Given the description of an element on the screen output the (x, y) to click on. 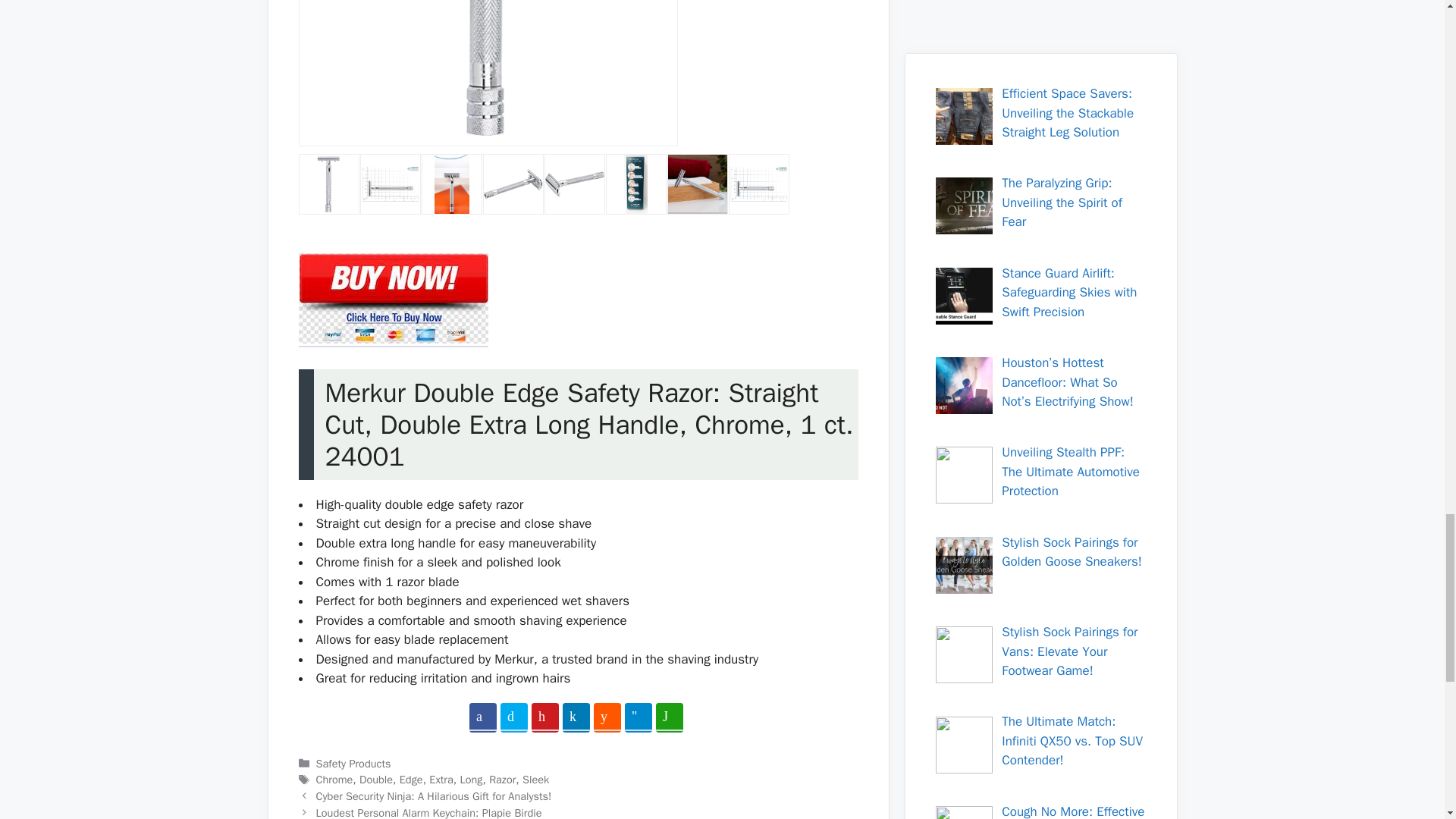
Safety Products (353, 763)
Loudest Personal Alarm Keychain: Plapie Birdie (428, 812)
Long (470, 779)
Extra (440, 779)
Razor (502, 779)
Sleek (535, 779)
Share on LinkedIn (575, 717)
Chrome (334, 779)
Cyber Security Ninja: A Hilarious Gift for Analysts! (433, 796)
Edge (410, 779)
